Given the description of an element on the screen output the (x, y) to click on. 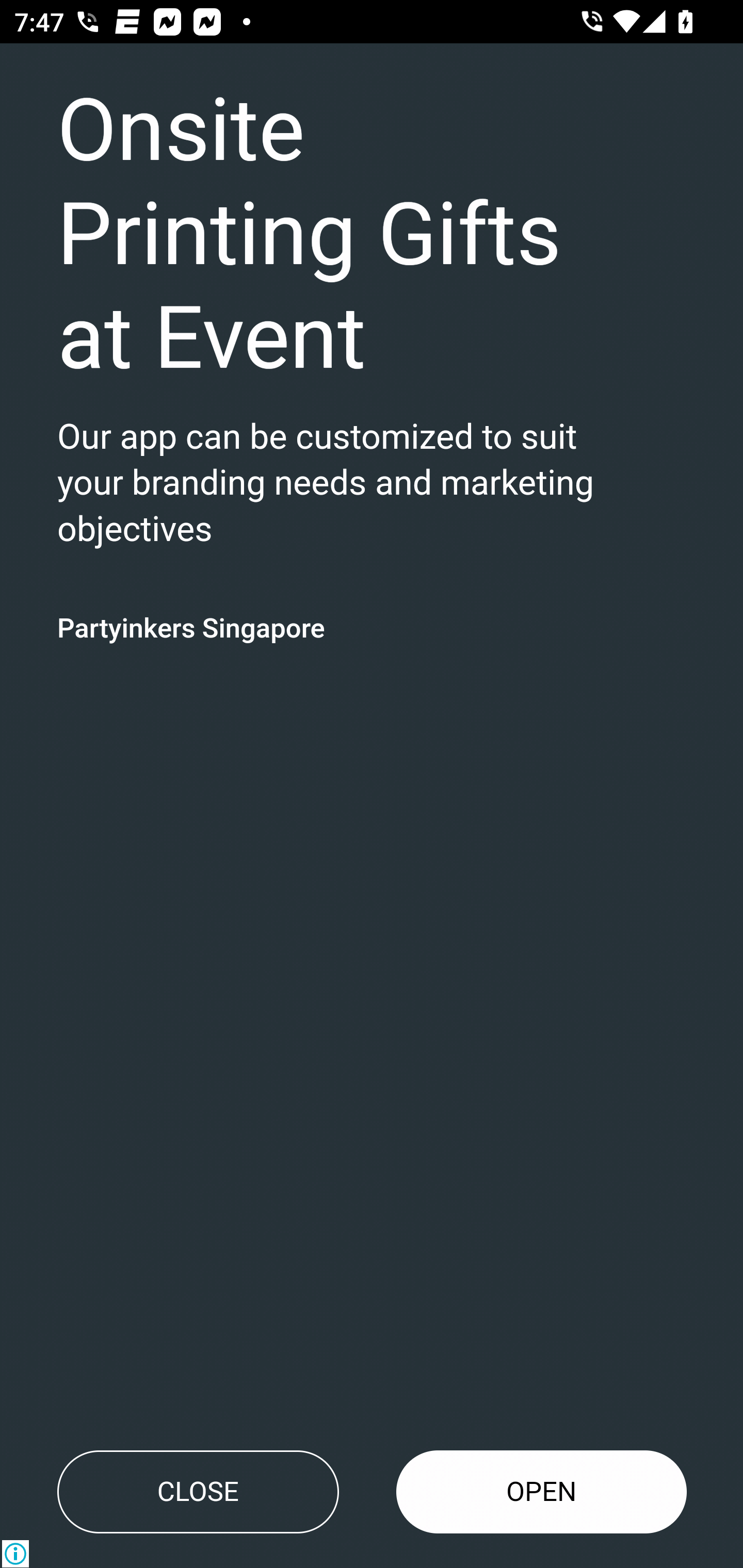
Partyinkers Singapore (190, 626)
CLOSE (197, 1491)
OPEN (541, 1491)
